Given the description of an element on the screen output the (x, y) to click on. 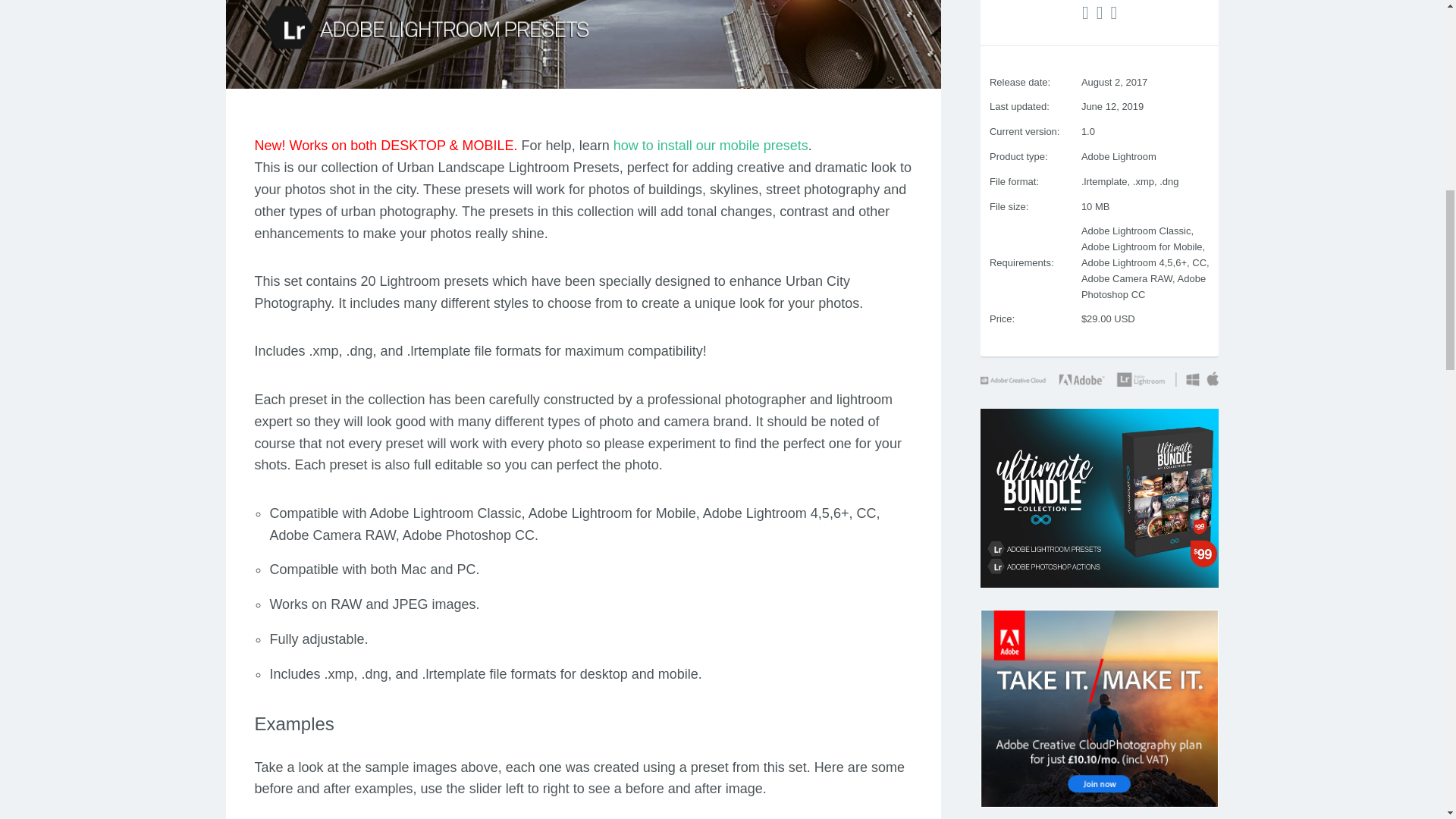
Like on Facebook (1099, 12)
Follow on Twitter (1085, 12)
View on YouTube (1113, 12)
how to install our mobile presets (710, 145)
